Given the description of an element on the screen output the (x, y) to click on. 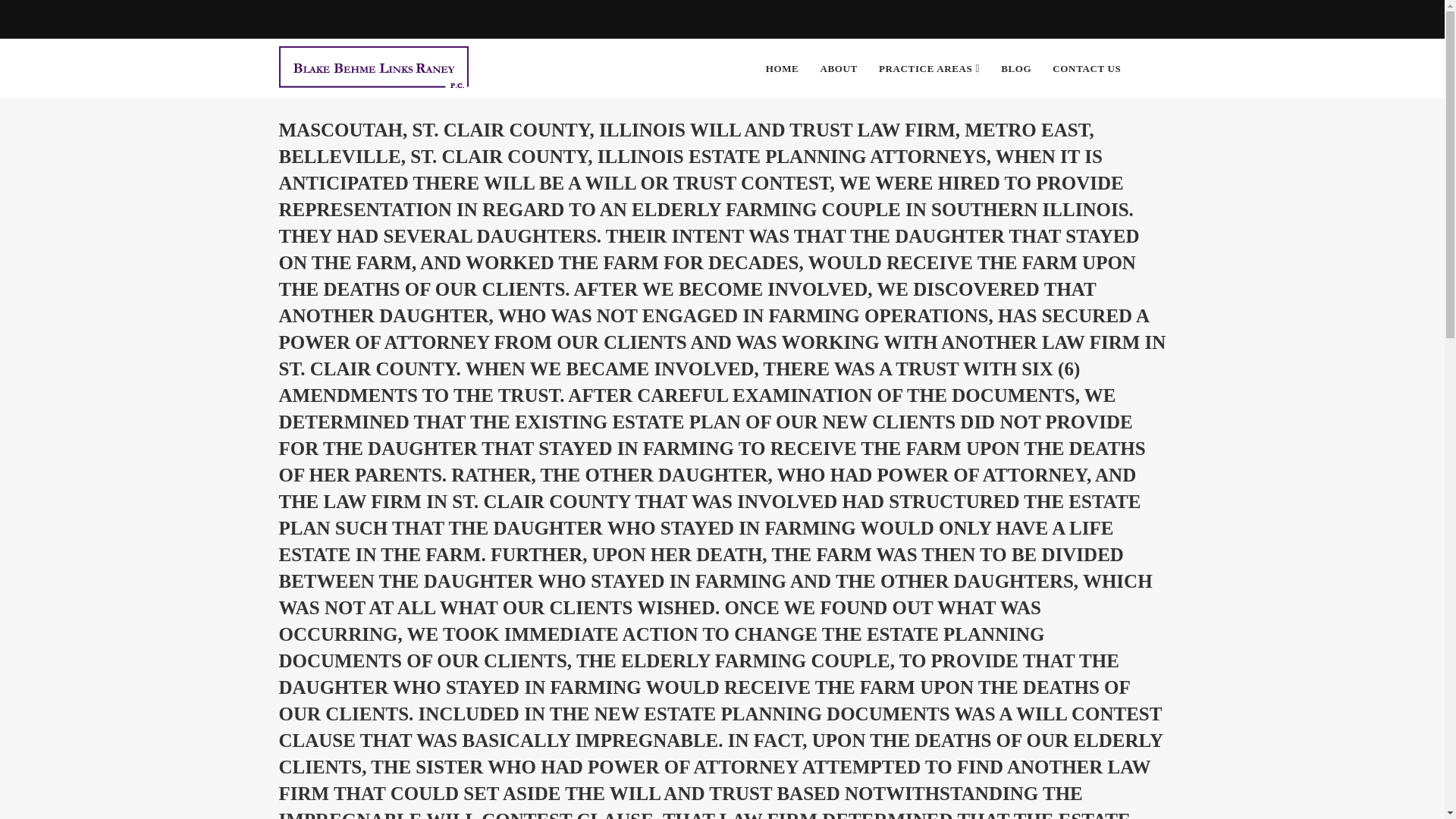
Home (782, 68)
CONTACT US (1086, 68)
Belleville Family Law - Estate Tax and Family Law (372, 68)
HOME (782, 68)
About (838, 68)
ABOUT (838, 68)
PRACTICE AREAS (928, 68)
